Given the description of an element on the screen output the (x, y) to click on. 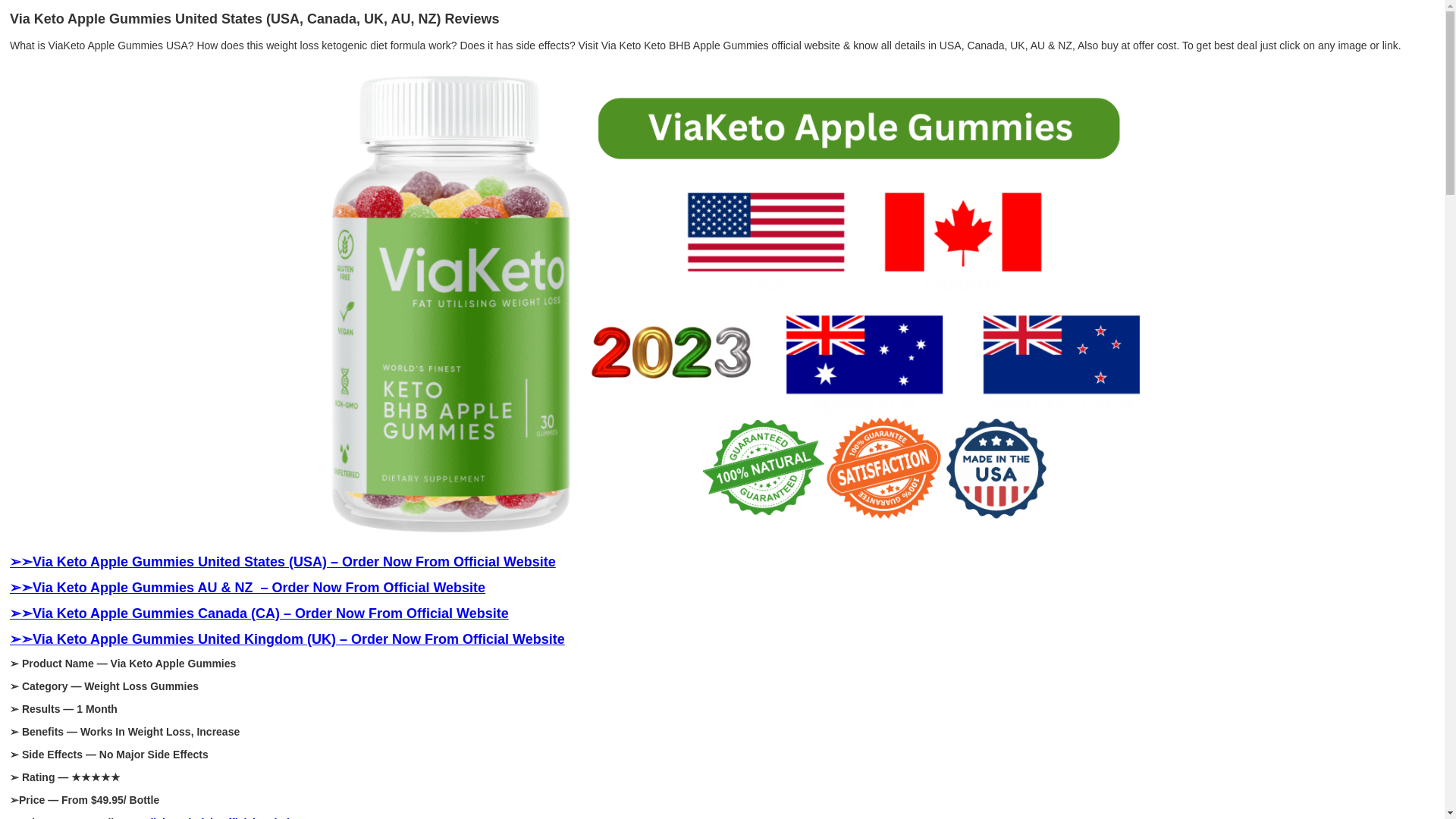
Click And Visit Official Website (220, 817)
